Given the description of an element on the screen output the (x, y) to click on. 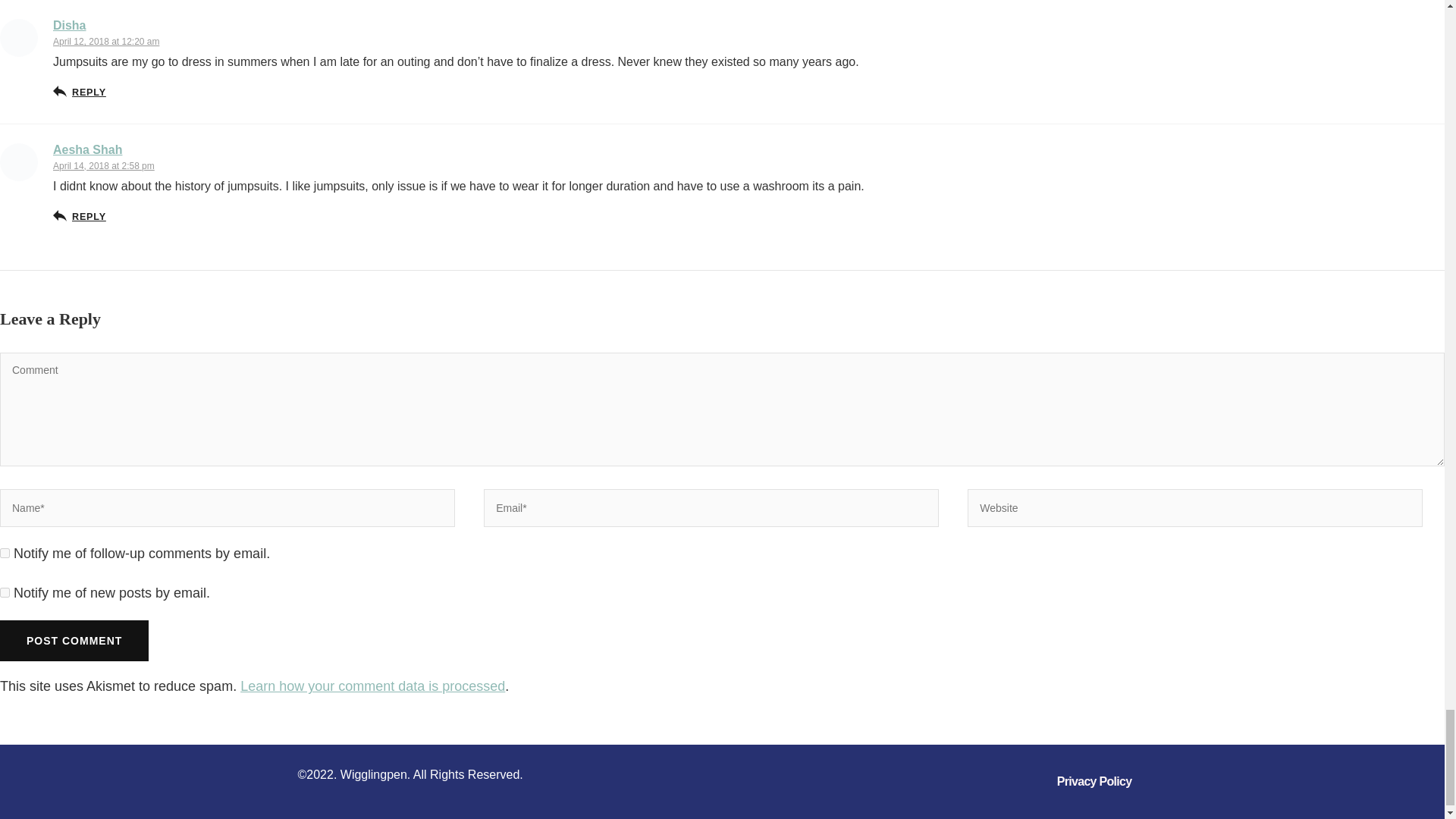
subscribe (5, 552)
Post Comment (74, 639)
subscribe (5, 592)
